Given the description of an element on the screen output the (x, y) to click on. 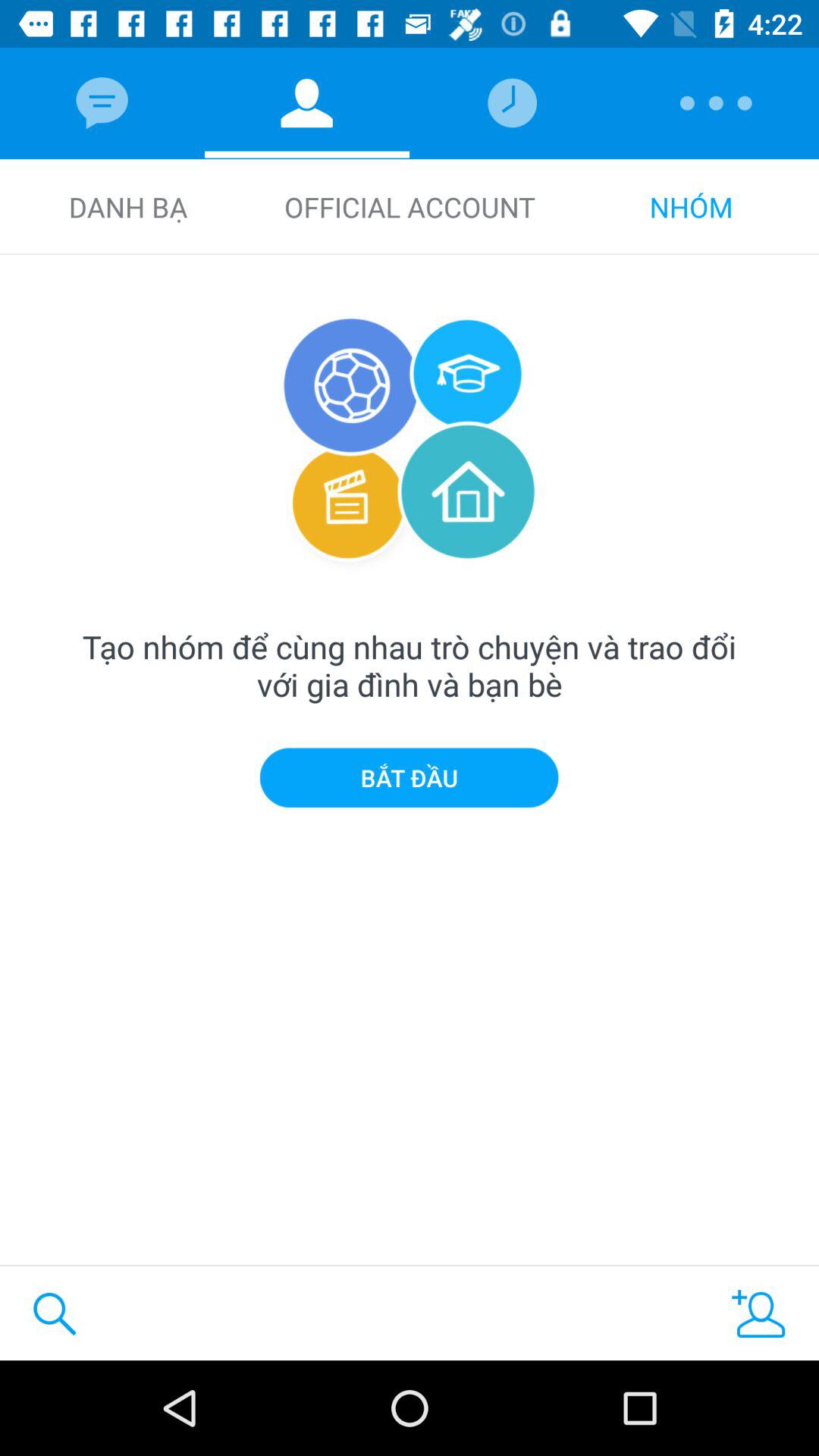
turn off the item to the left of official account item (127, 206)
